Given the description of an element on the screen output the (x, y) to click on. 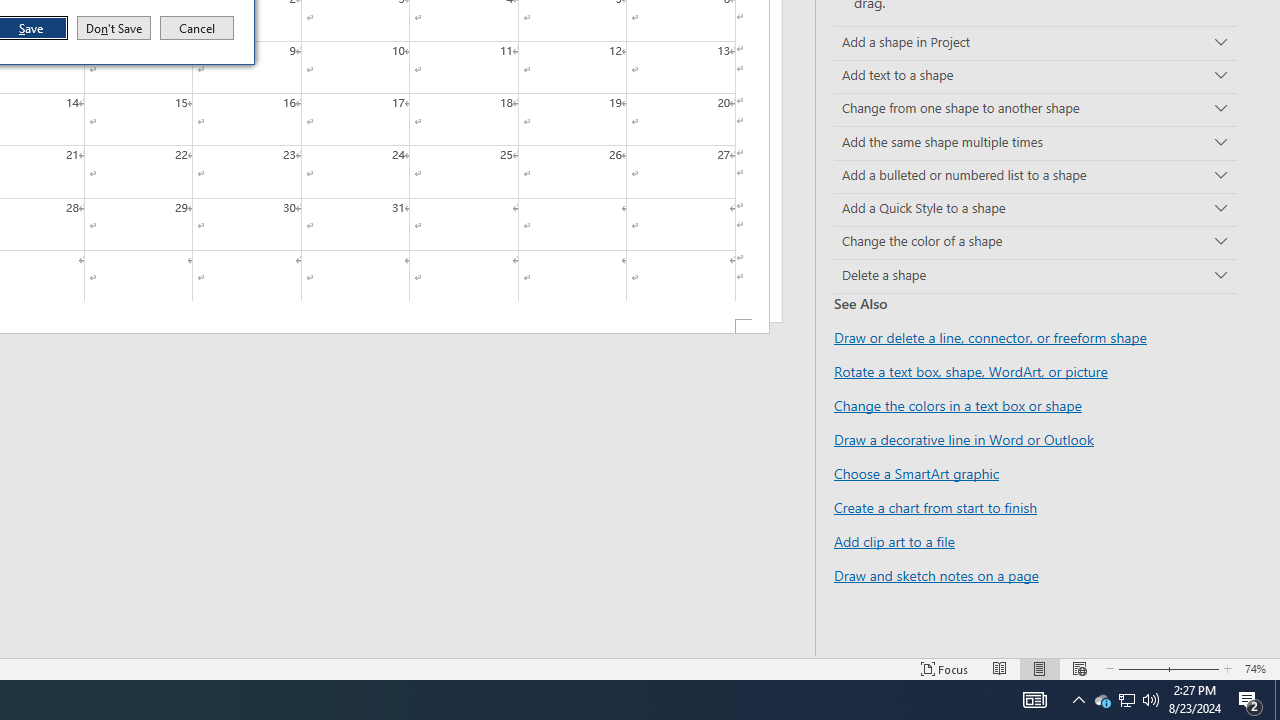
Action Center, 2 new notifications (1250, 699)
User Promoted Notification Area (1126, 699)
Draw a decorative line in Word or Outlook (964, 439)
